Given the description of an element on the screen output the (x, y) to click on. 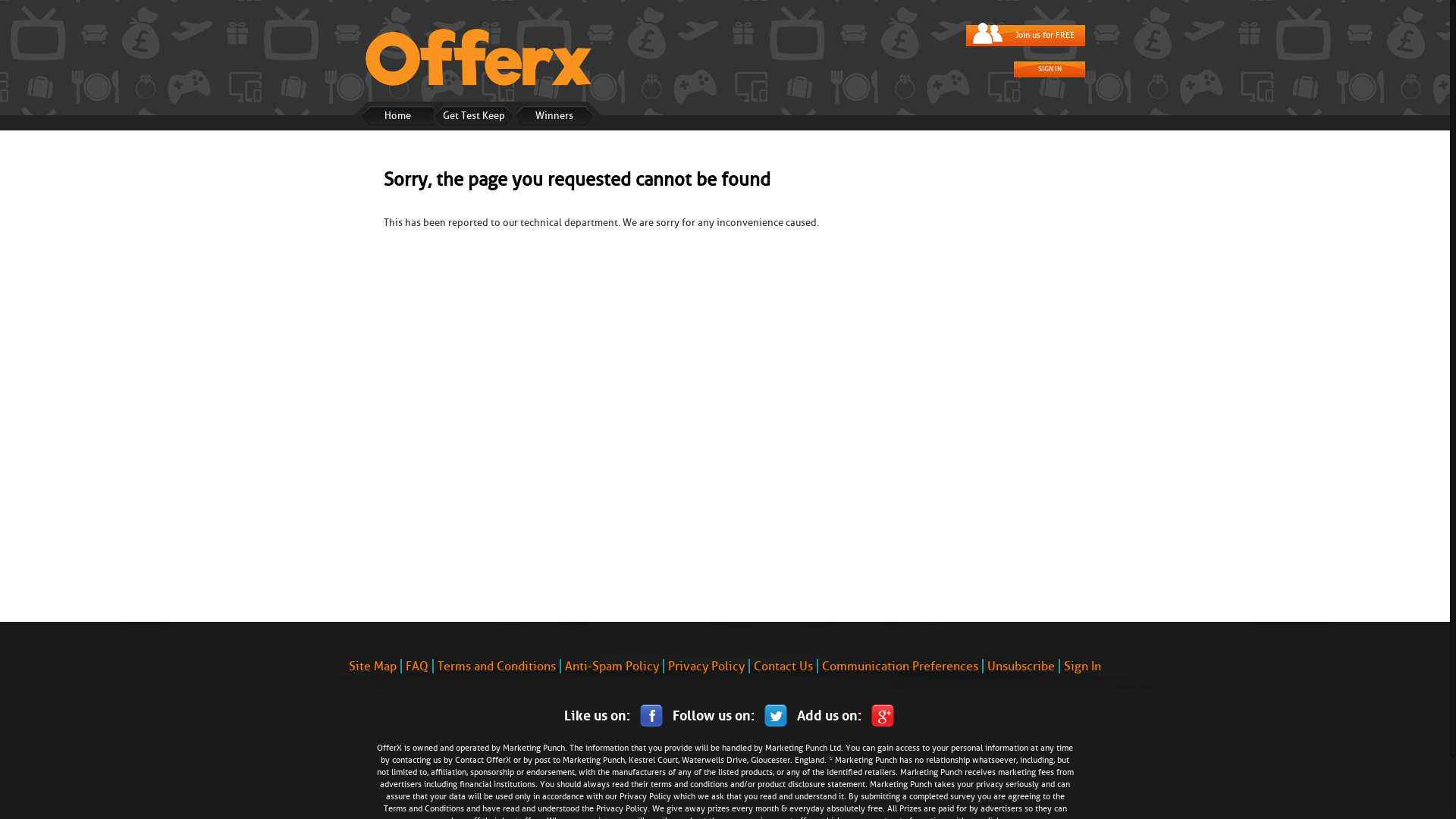
Add us on: Element type: text (840, 714)
Follow us on: Element type: text (726, 714)
OfferX Element type: text (498, 760)
Join us for FREE Element type: text (1025, 34)
Terms and Conditions Element type: text (423, 808)
Privacy Policy Element type: text (644, 796)
Privacy Policy Element type: text (705, 665)
Get Test Keep Element type: text (473, 115)
Contact Us Element type: text (782, 665)
Terms and Conditions Element type: text (495, 665)
Like us on: Element type: text (610, 714)
Sign In Element type: text (1081, 665)
Home Element type: text (396, 115)
Communication Preferences Element type: text (899, 665)
Site Map Element type: text (372, 665)
Unsubscribe Element type: text (1020, 665)
FAQ Element type: text (416, 665)
Privacy Policy Element type: text (621, 808)
Anti-Spam Policy Element type: text (610, 665)
SIGN IN Element type: text (1049, 69)
Winners Element type: text (554, 115)
